Given the description of an element on the screen output the (x, y) to click on. 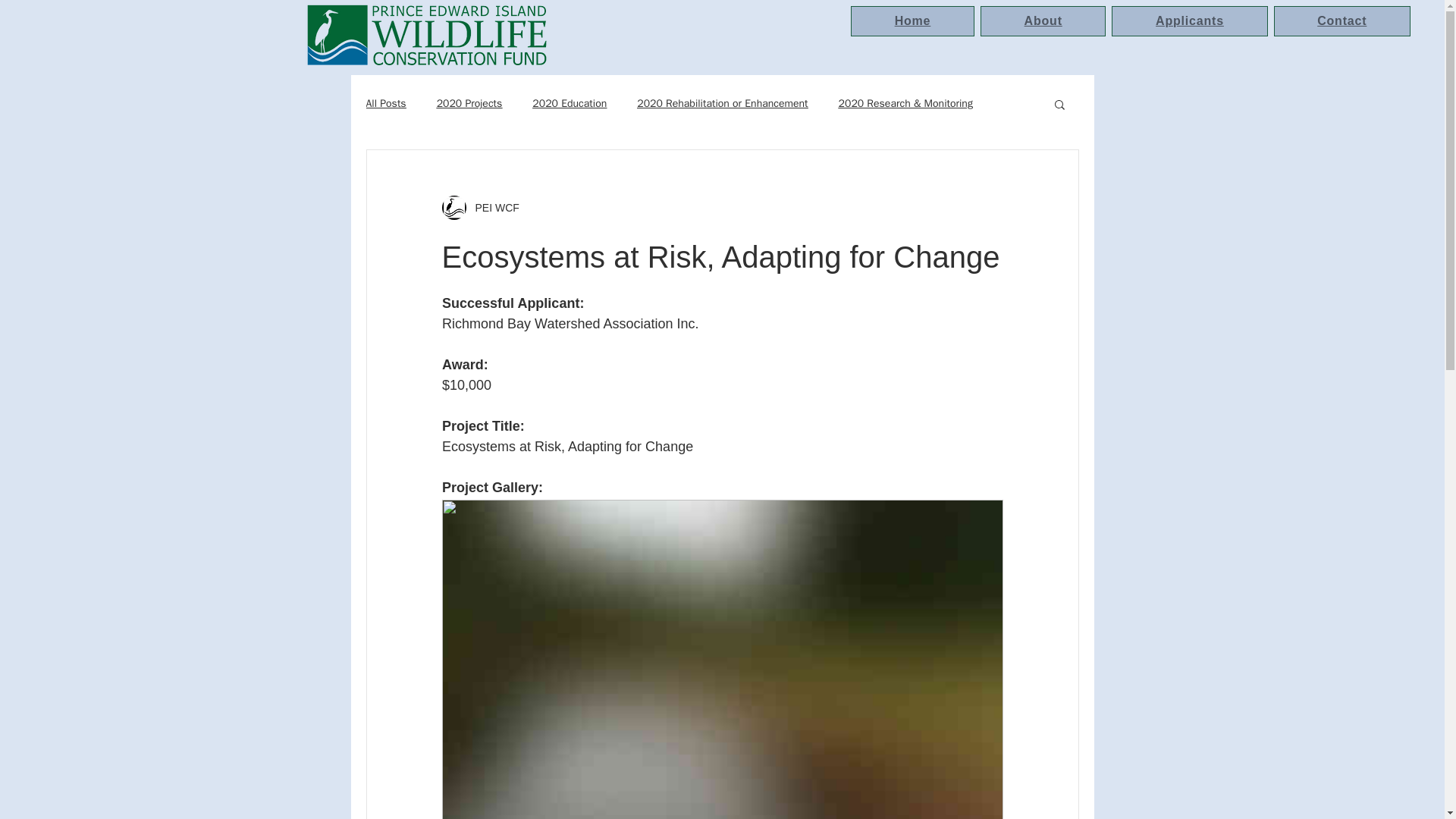
About (1042, 20)
wcflogo.png (425, 35)
Applicants (1189, 20)
2020 Projects (469, 103)
2020 Education (569, 103)
All Posts (385, 103)
Contact (1342, 20)
PEI WCF (491, 207)
Home (912, 20)
2020 Rehabilitation or Enhancement (722, 103)
PEI WCF (479, 207)
